Given the description of an element on the screen output the (x, y) to click on. 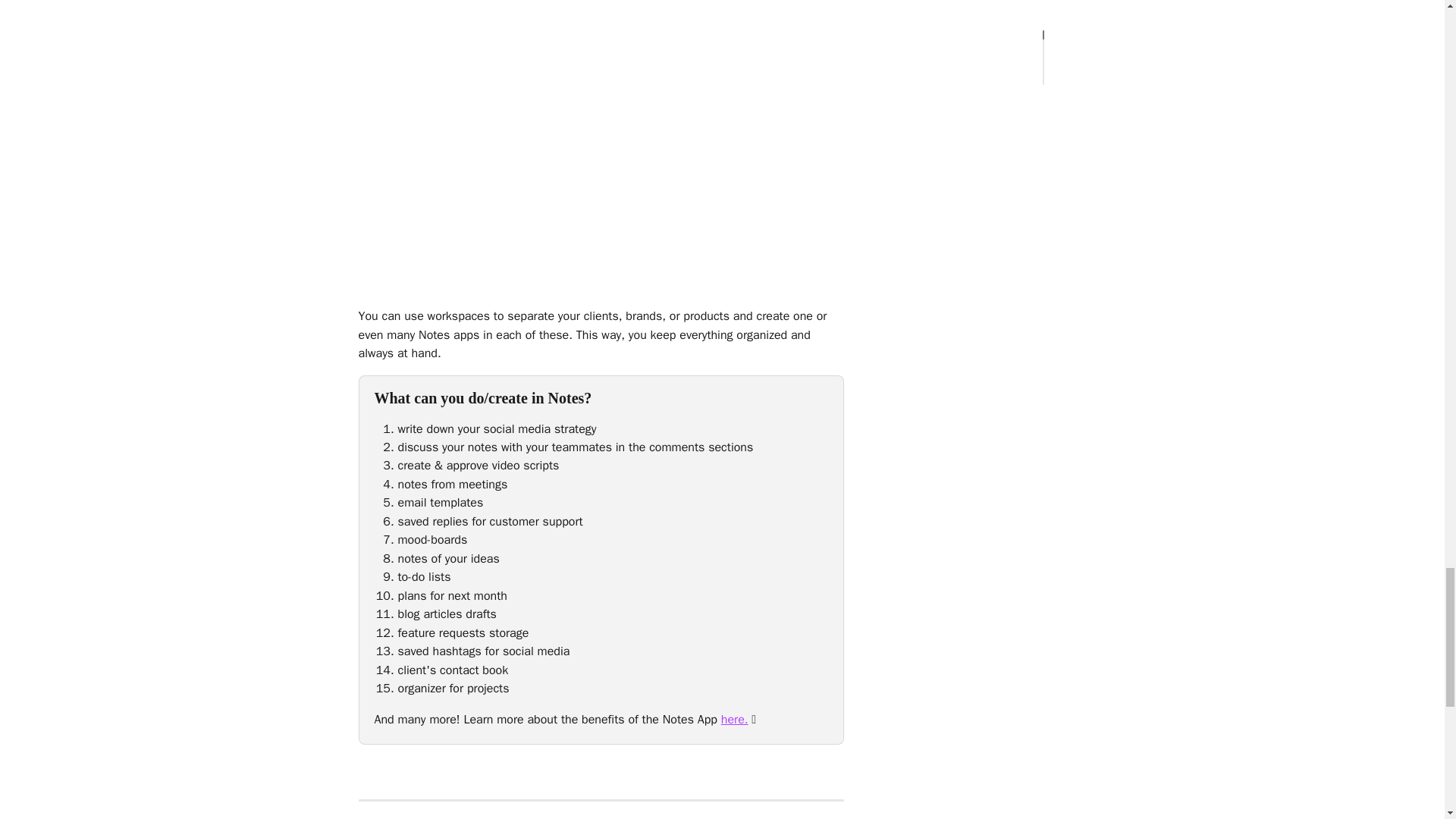
here. (734, 719)
